Given the description of an element on the screen output the (x, y) to click on. 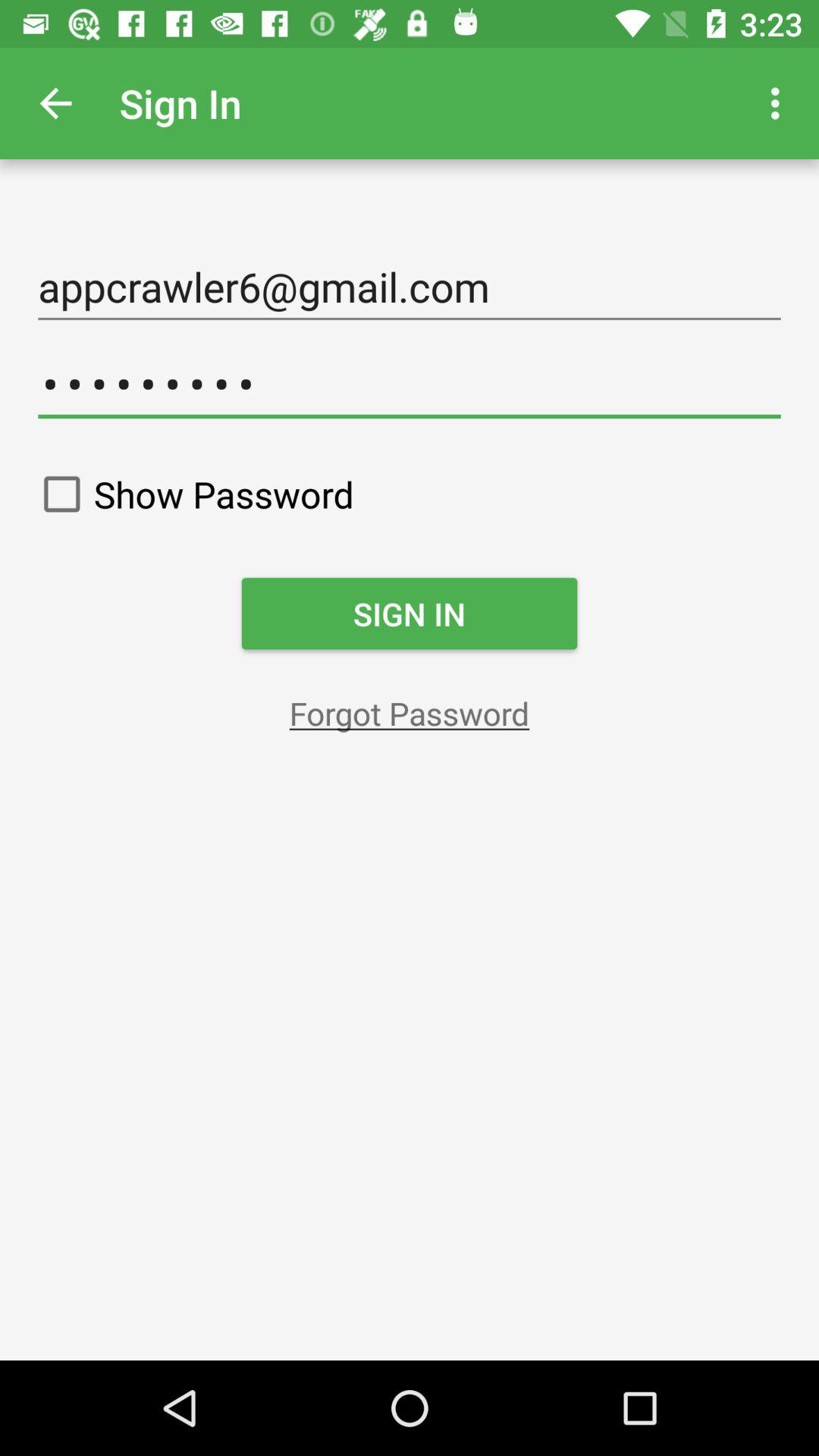
scroll to the show password icon (191, 494)
